Given the description of an element on the screen output the (x, y) to click on. 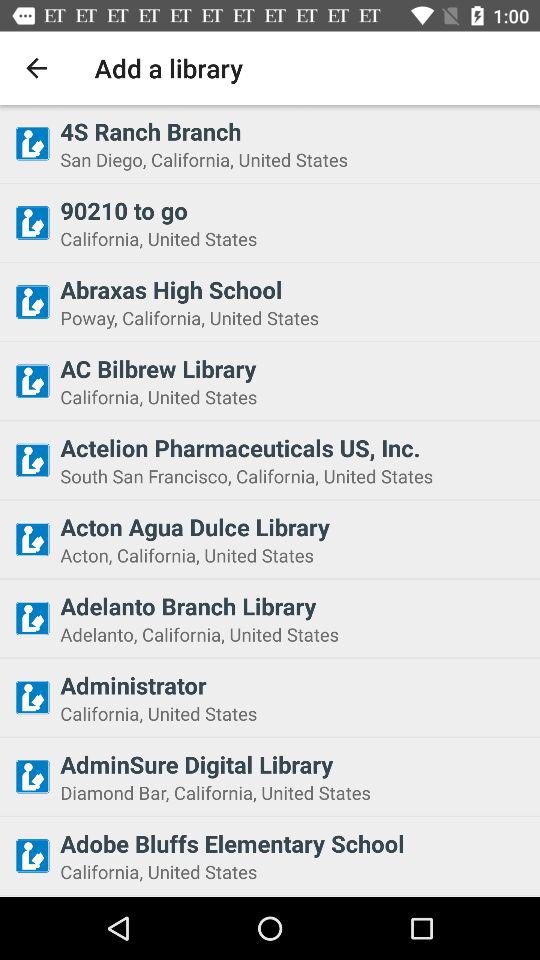
tap the item above california, united states (294, 210)
